Given the description of an element on the screen output the (x, y) to click on. 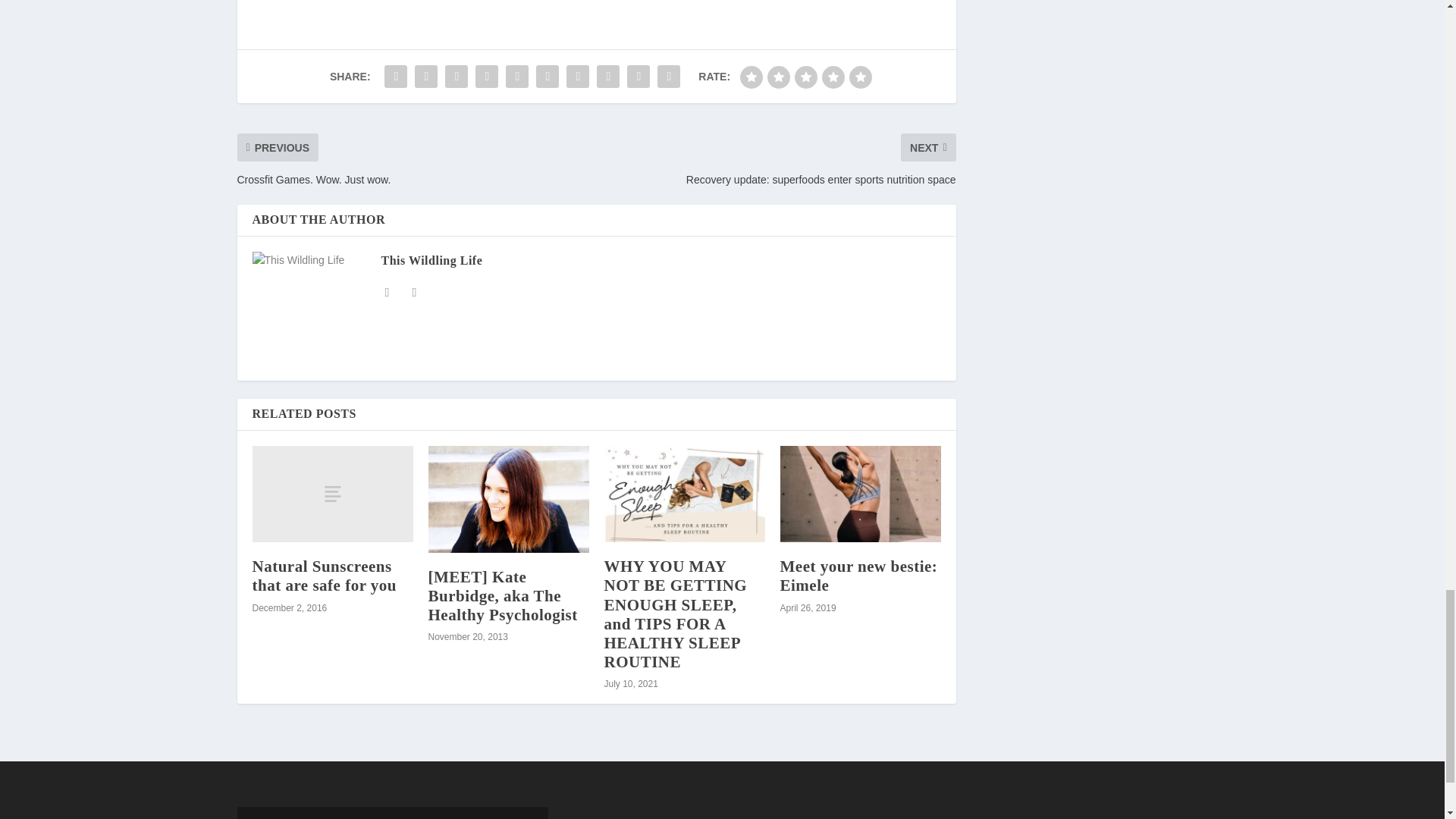
Share "Random acts of kindness" via Facebook (395, 76)
Share "Random acts of kindness" via Twitter (425, 76)
